Given the description of an element on the screen output the (x, y) to click on. 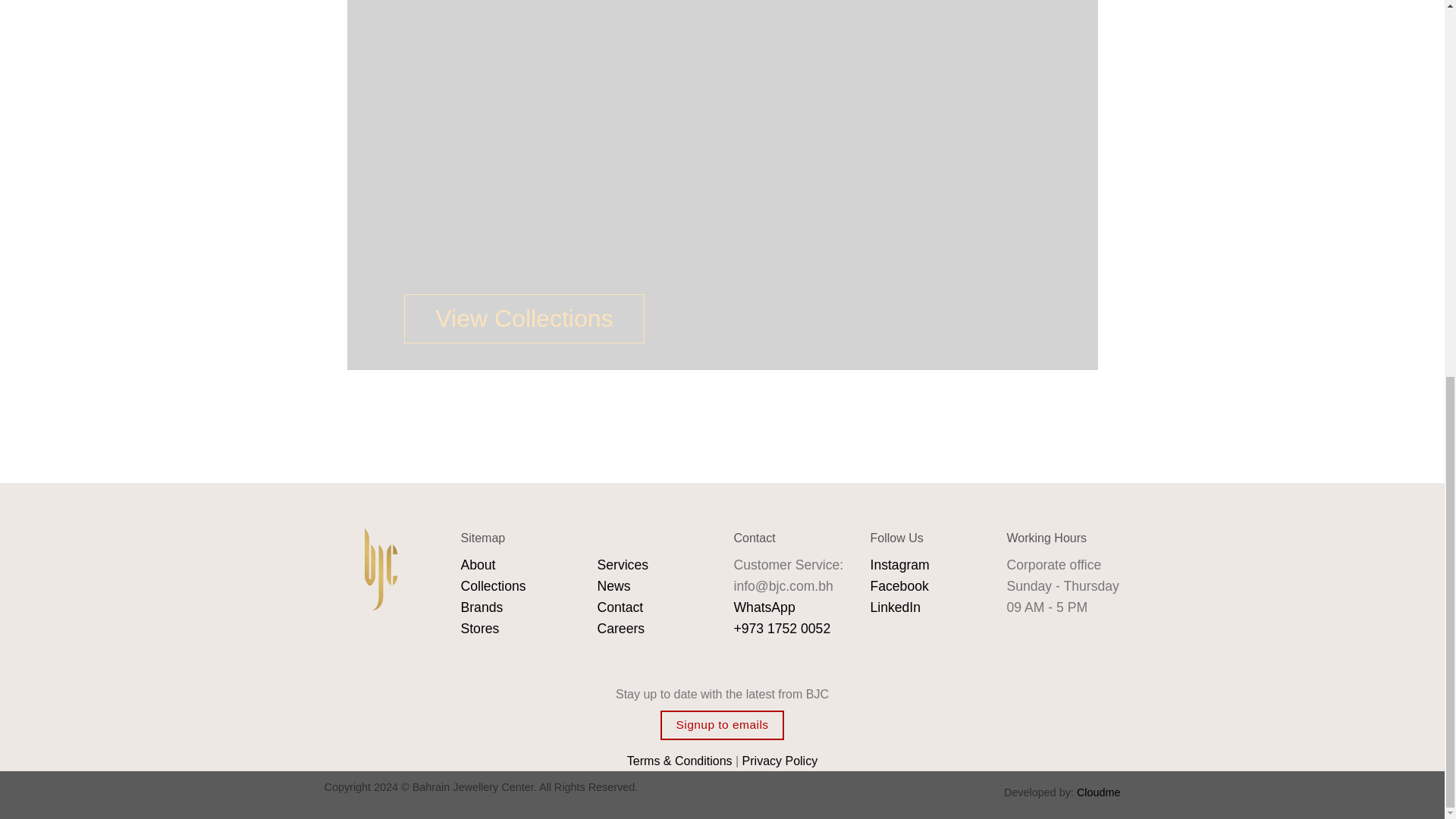
View Collections (523, 318)
News (613, 585)
Stores (480, 628)
Facebook (899, 585)
LinkedIn (895, 607)
Collections (493, 585)
Contact (619, 607)
Careers (620, 628)
Instagram (900, 564)
Services (621, 564)
WhatsApp (763, 607)
Brands (482, 607)
About (478, 564)
